Given the description of an element on the screen output the (x, y) to click on. 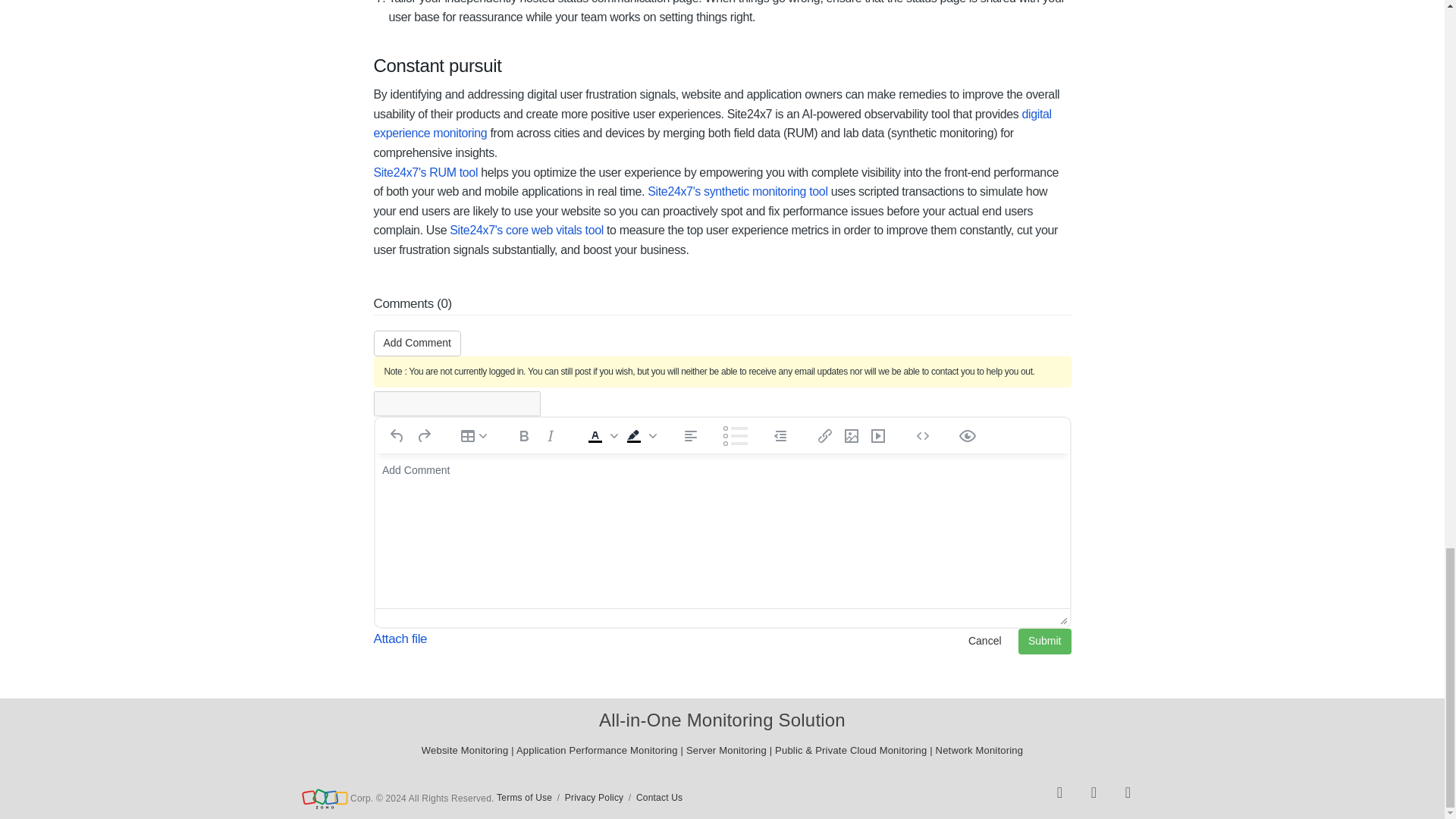
Indent options (780, 435)
digital experience monitoring (711, 123)
Add Comment (416, 343)
Site24x7's synthetic monitoring tool (737, 191)
Submit (1044, 641)
Site24x7's core web vitals tool (526, 229)
Background color (639, 435)
Undo (396, 435)
List options (735, 435)
Bold (524, 435)
Table (473, 435)
Text color (601, 435)
Site24x7's RUM tool (426, 172)
Redo (423, 435)
Cancel (984, 641)
